Given the description of an element on the screen output the (x, y) to click on. 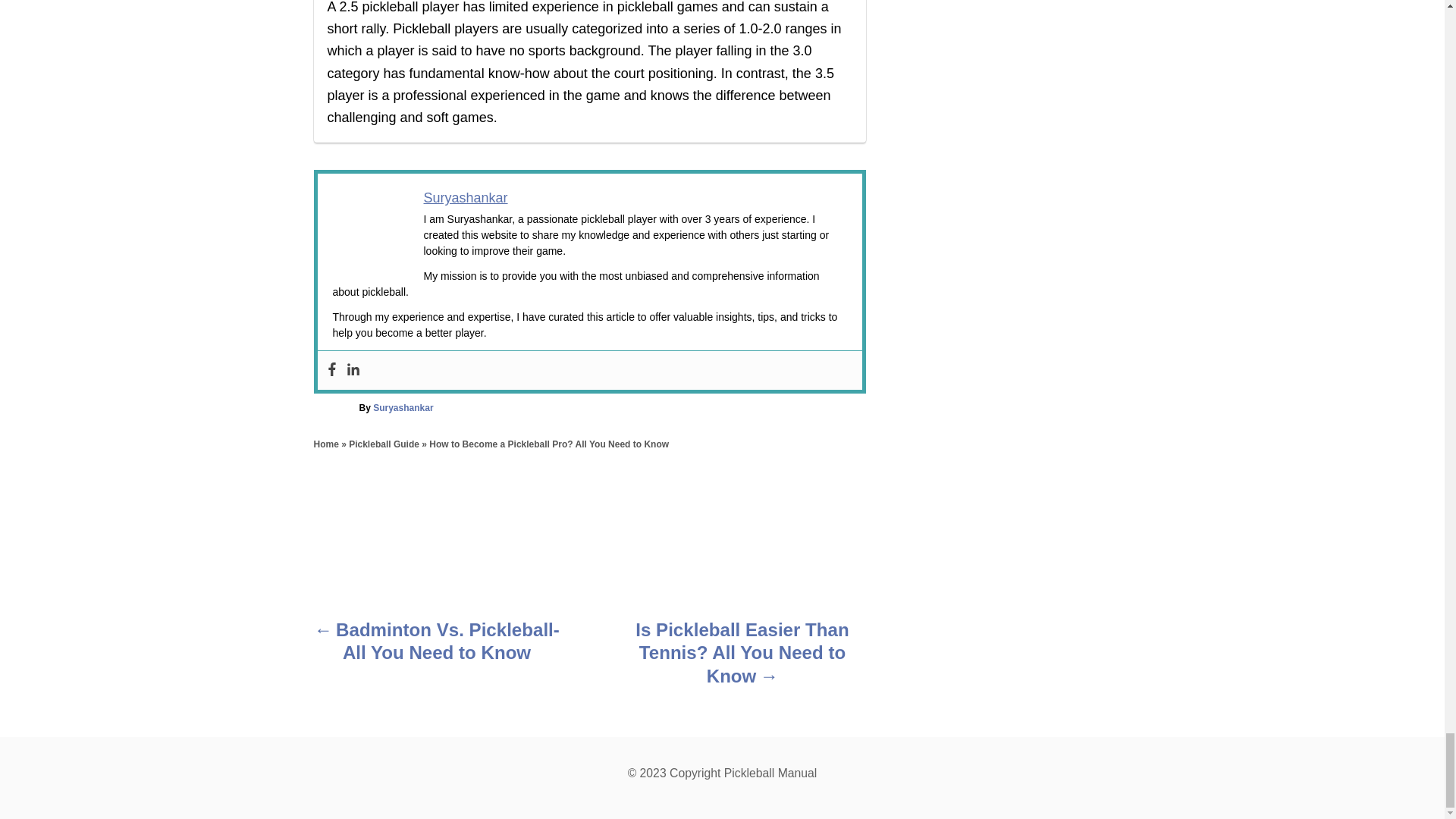
Suryashankar (402, 407)
Pickleball Guide (384, 443)
Is Pickleball Easier Than Tennis? All You Need to Know (741, 656)
Badminton Vs. Pickleball- All You Need to Know (437, 645)
Home (326, 443)
Suryashankar (464, 197)
